Given the description of an element on the screen output the (x, y) to click on. 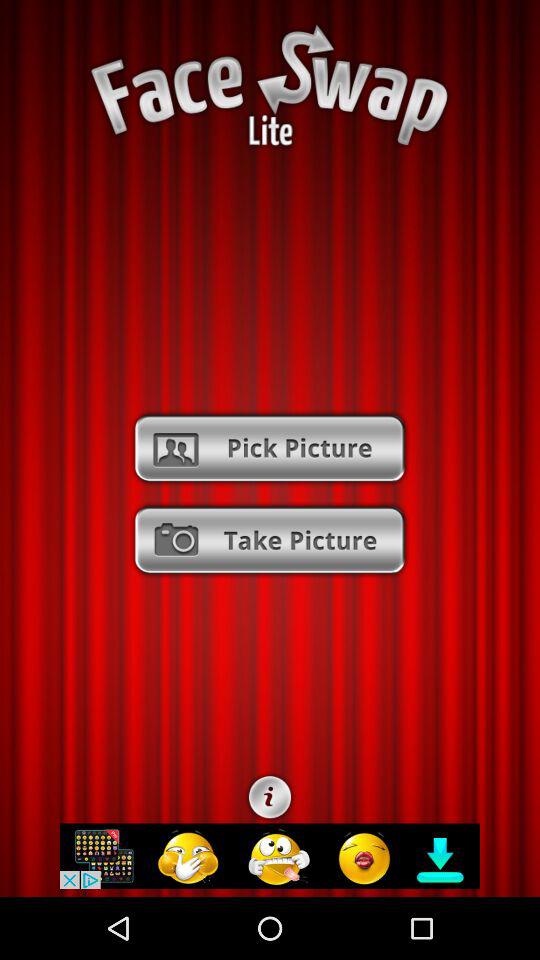
to go pick picture (269, 448)
